Given the description of an element on the screen output the (x, y) to click on. 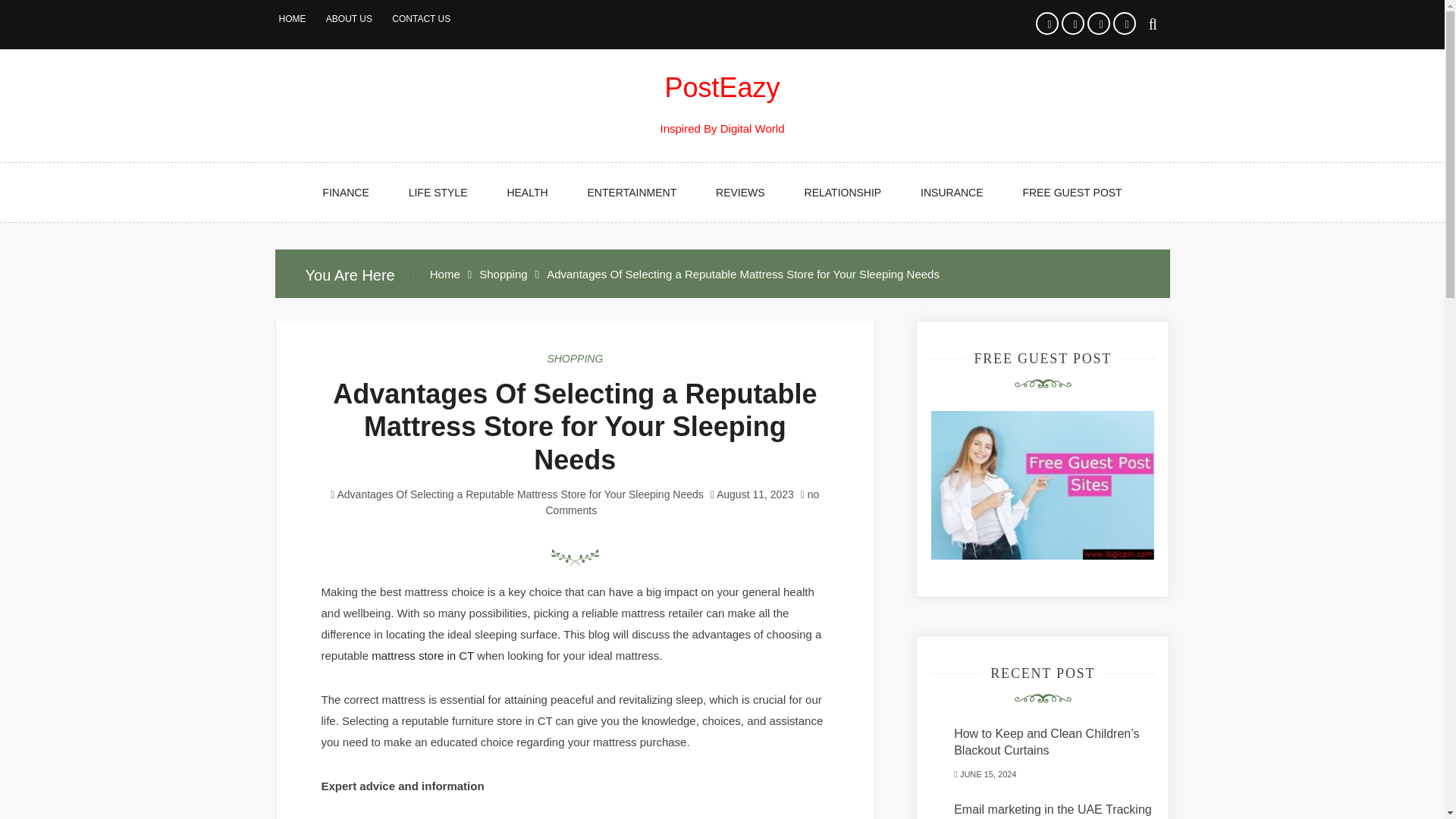
INSURANCE (951, 191)
HOME (292, 18)
RELATIONSHIP (842, 191)
mattress store in CT (422, 655)
CONTACT US (420, 18)
Home (444, 273)
August 11, 2023 (754, 494)
FREE GUEST POST (1072, 191)
HEALTH (526, 191)
ABOUT US (349, 18)
FINANCE (345, 191)
Shopping (503, 273)
ENTERTAINMENT (631, 191)
